Given the description of an element on the screen output the (x, y) to click on. 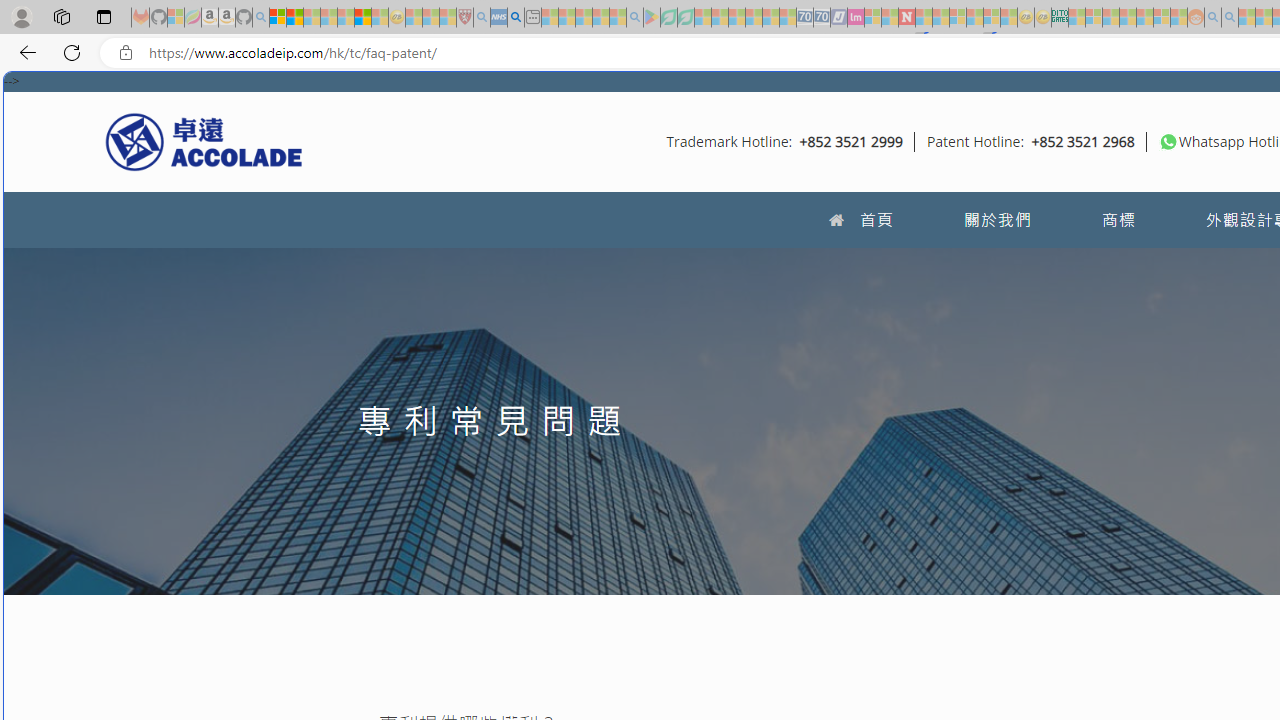
Bluey: Let's Play! - Apps on Google Play - Sleeping (651, 17)
Accolade IP HK Logo (203, 141)
google - Search - Sleeping (634, 17)
